Given the description of an element on the screen output the (x, y) to click on. 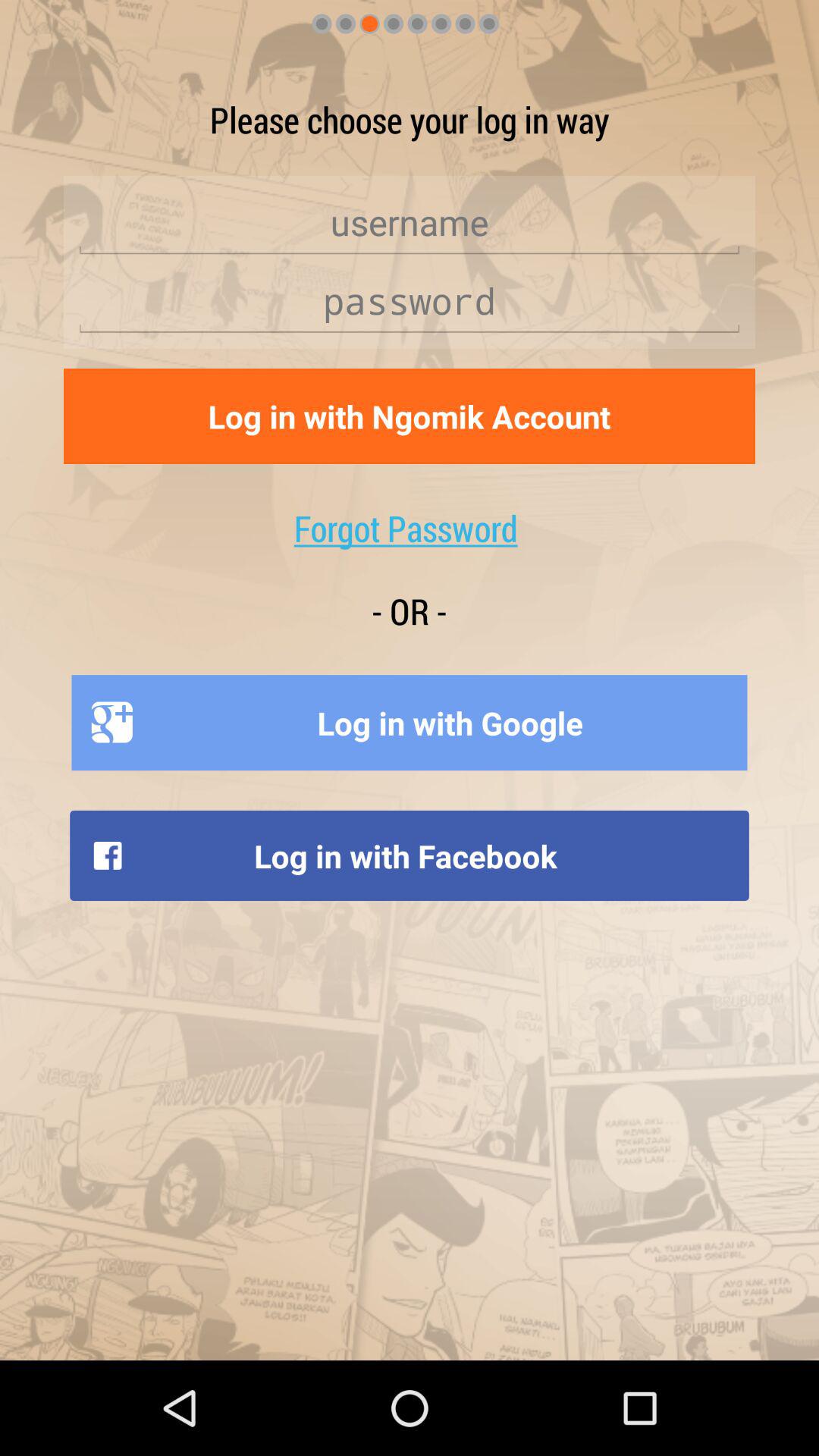
user name enter option (409, 222)
